Given the description of an element on the screen output the (x, y) to click on. 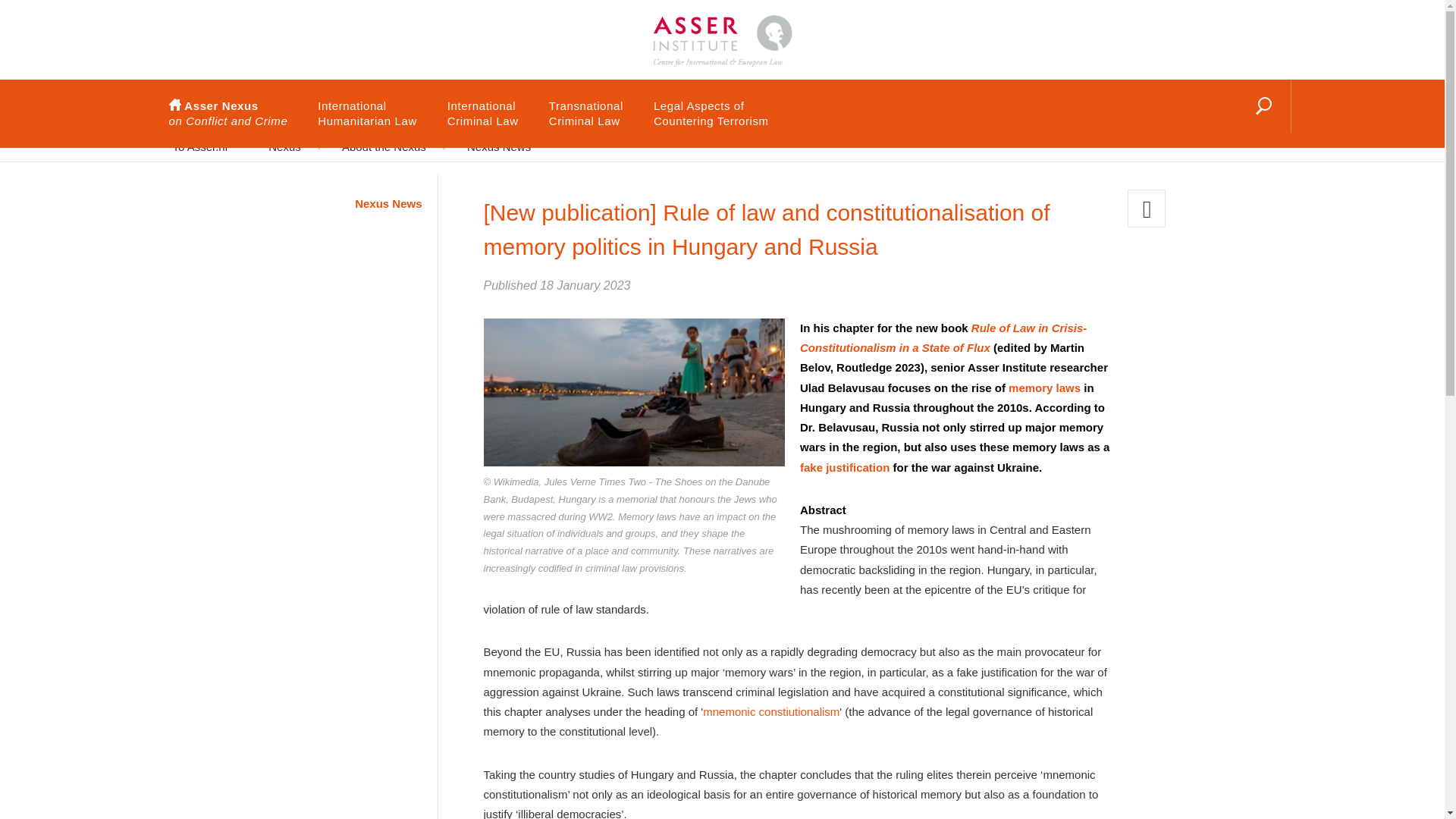
Search (1227, 125)
Go back to T.M.C. Asser Instituut Homepage (721, 27)
Search (367, 113)
